Given the description of an element on the screen output the (x, y) to click on. 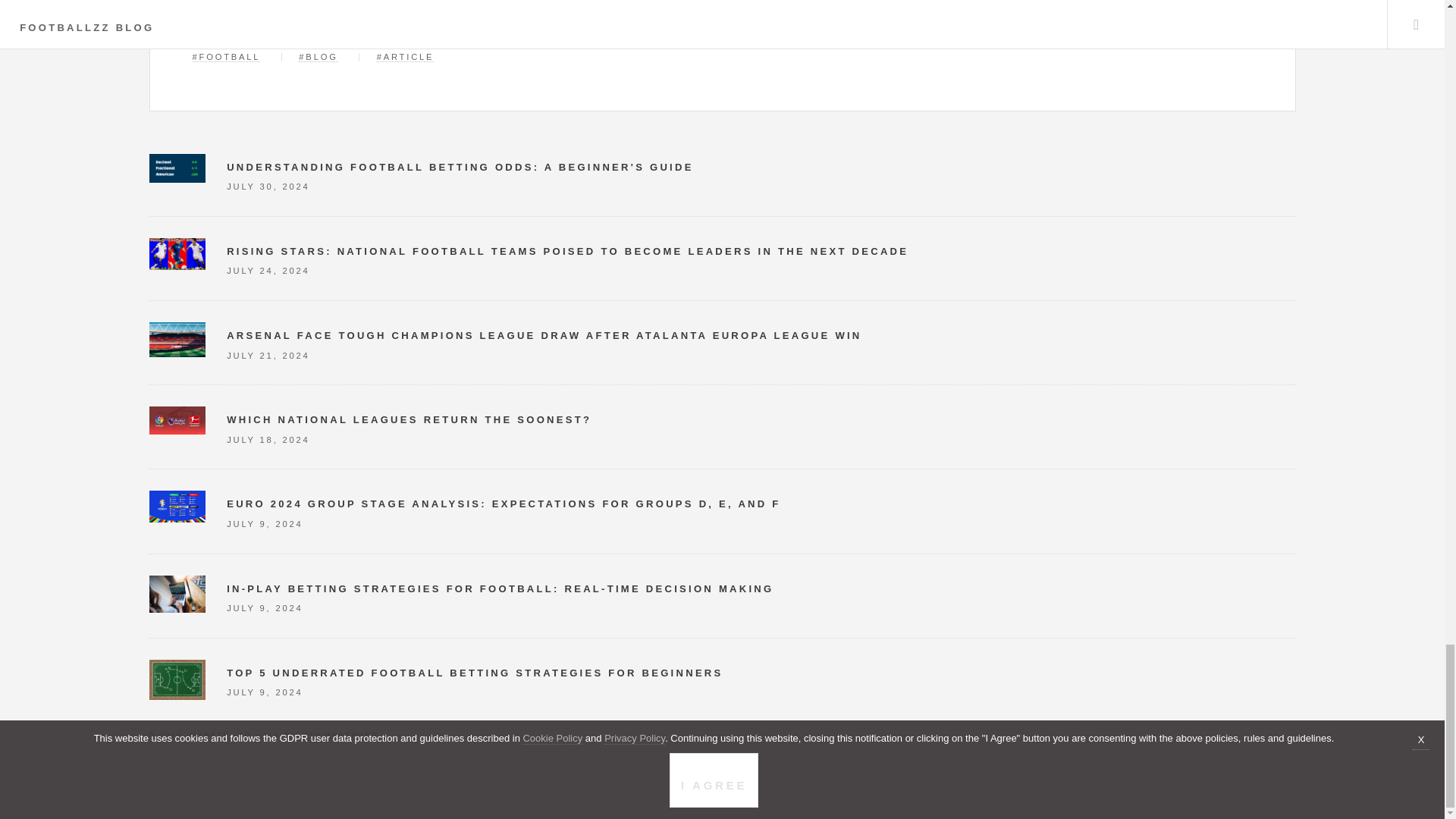
WHICH NATIONAL LEAGUES RETURN THE SOONEST? (409, 419)
UNDERSTANDING FOOTBALL BETTING ODDS: A BEGINNER'S GUIDE (460, 166)
TOP 5 UNDERRATED FOOTBALL BETTING STRATEGIES FOR BEGINNERS (474, 672)
